Given the description of an element on the screen output the (x, y) to click on. 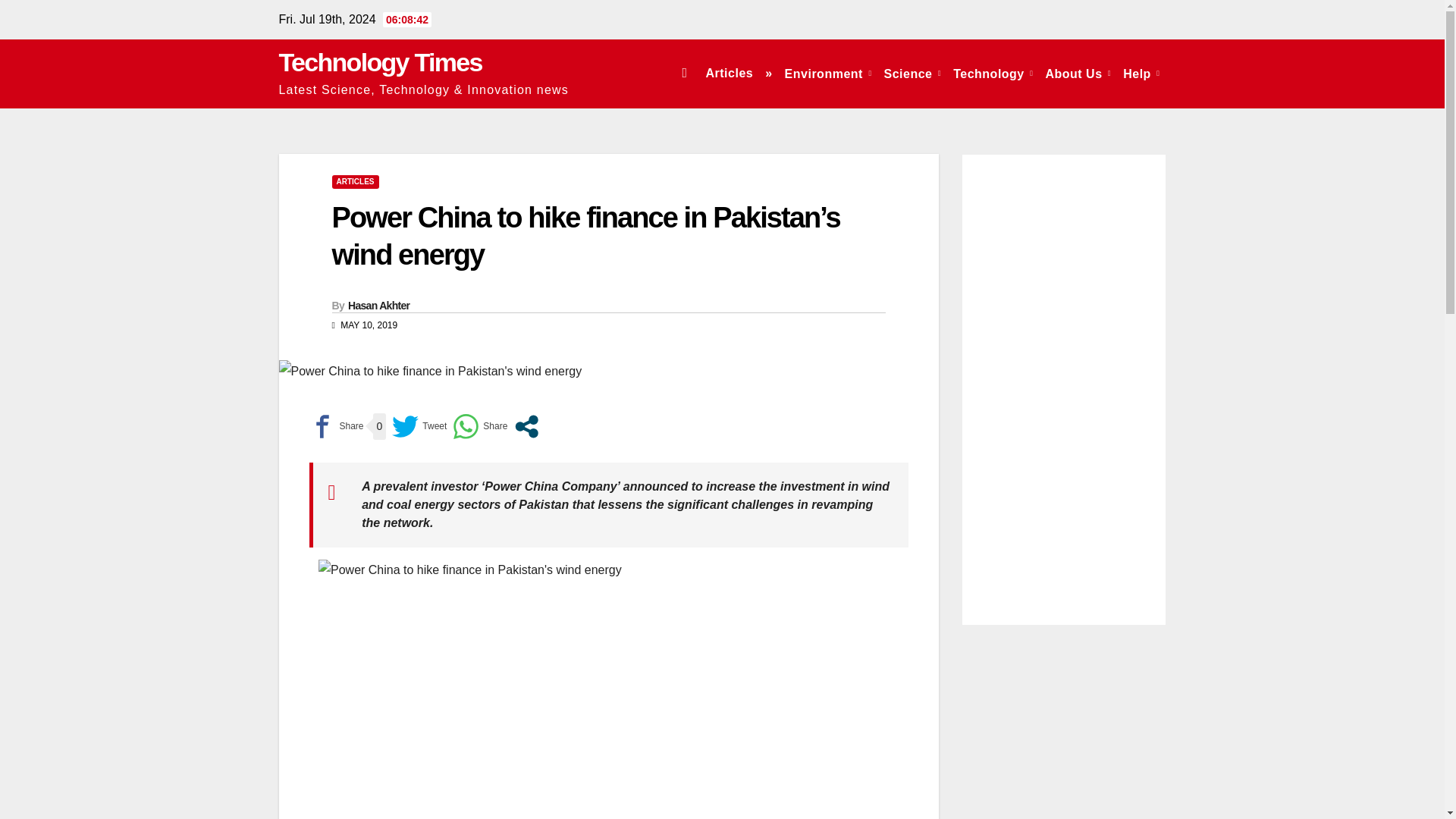
About Us (1077, 73)
Technology (993, 73)
Articles (728, 73)
Articles (728, 73)
Environment (827, 73)
Environment (827, 73)
Technology Times (380, 61)
Help (1141, 73)
Technology (993, 73)
Science (912, 73)
Science (912, 73)
